Given the description of an element on the screen output the (x, y) to click on. 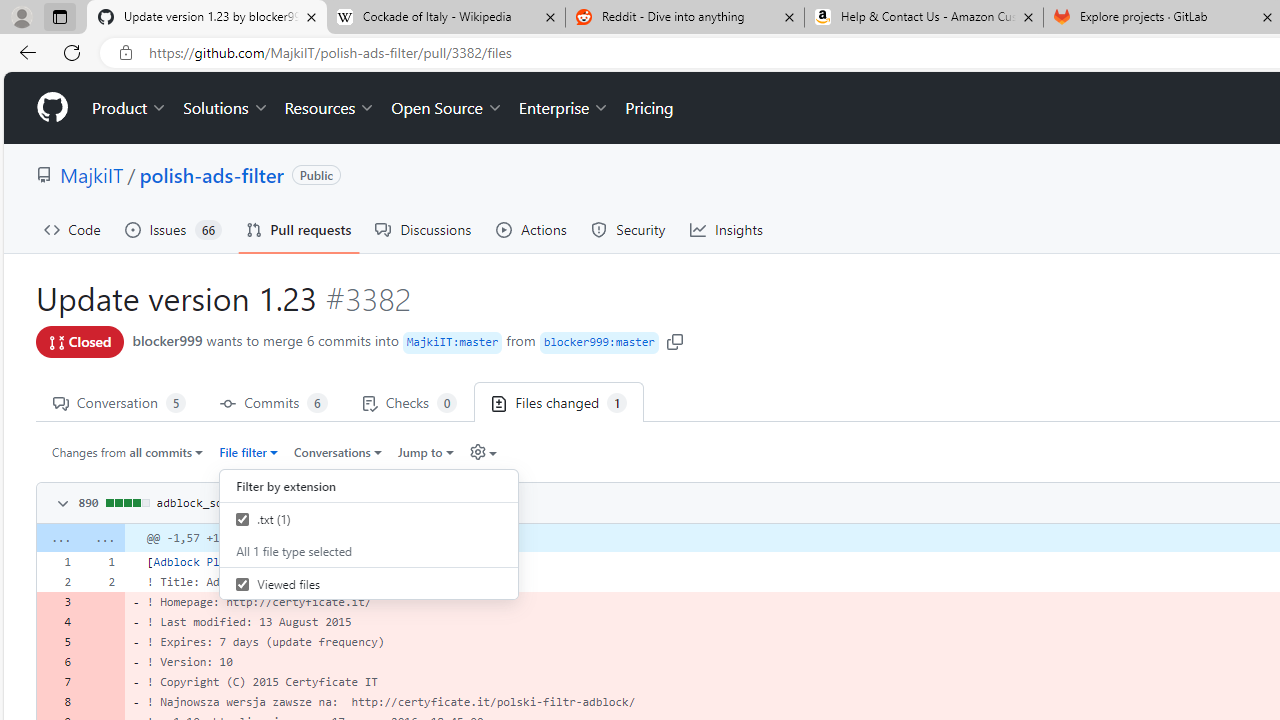
Security (628, 229)
Discussions (424, 229)
Product (130, 107)
Pull requests (298, 229)
Code (71, 229)
 Checks 0 (409, 401)
File filter (248, 451)
Copy (476, 501)
Homepage (51, 107)
Resources (330, 107)
Help & Contact Us - Amazon Customer Service (924, 17)
Issues66 (173, 229)
 Conversation 5 (119, 401)
Pricing (649, 107)
